Given the description of an element on the screen output the (x, y) to click on. 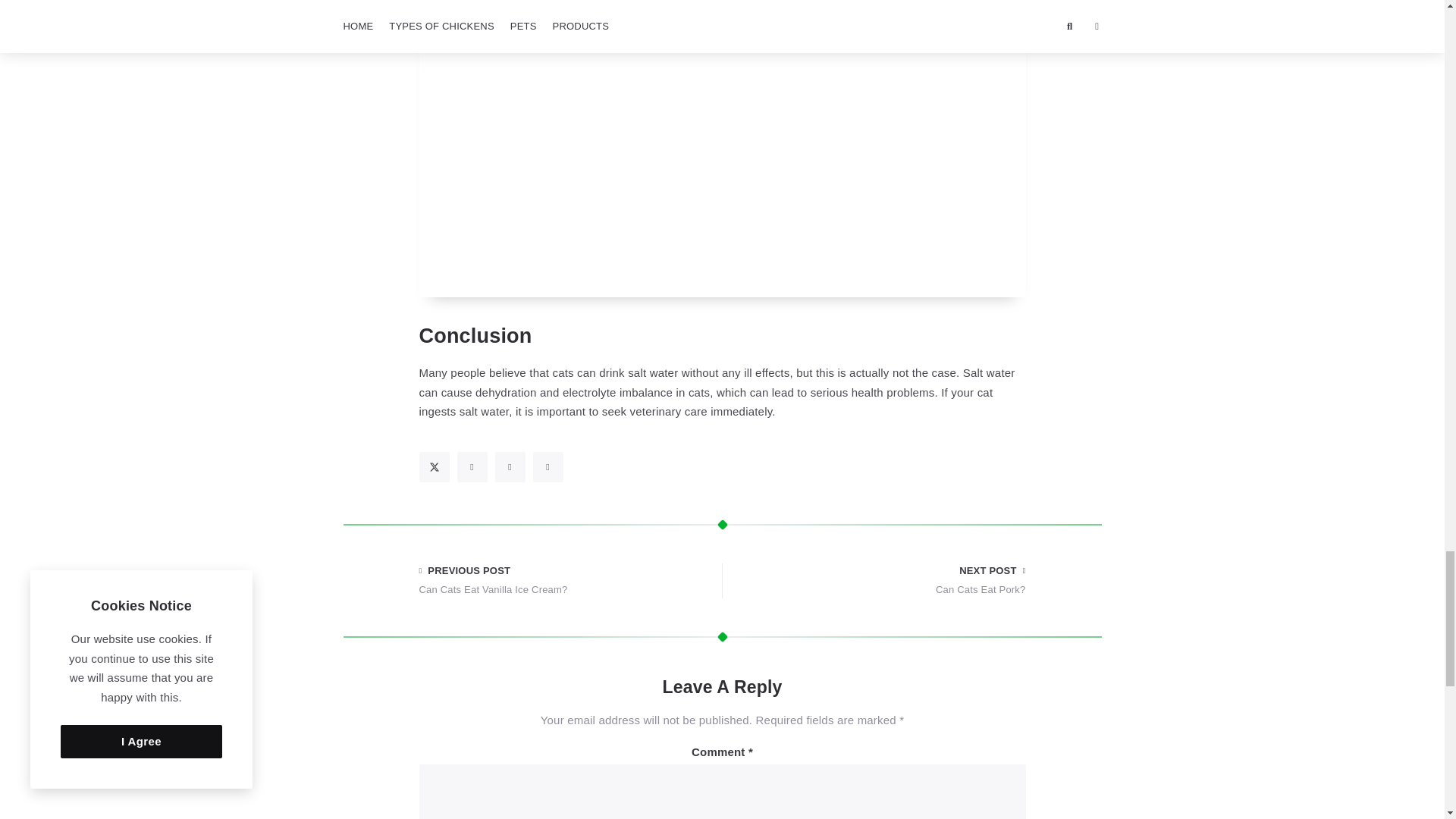
Share on Reddit (547, 467)
Share on Twitter X (433, 467)
Share on Pinterest (509, 467)
Share on Facebook (471, 467)
